Given the description of an element on the screen output the (x, y) to click on. 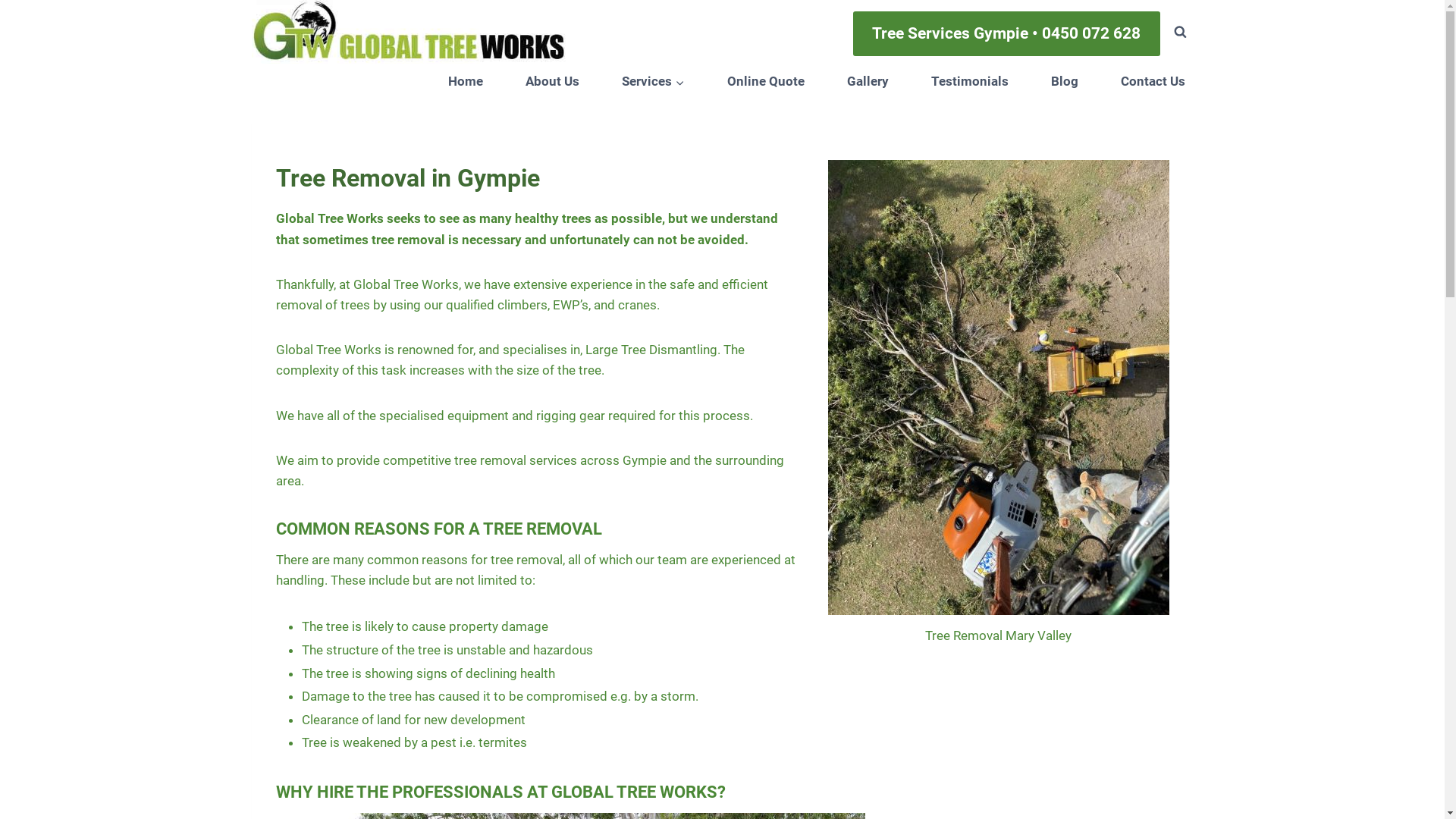
Blog Element type: text (1064, 81)
Contact Us Element type: text (1152, 81)
About Us Element type: text (551, 81)
Services Element type: text (653, 81)
Testimonials Element type: text (969, 81)
Gallery Element type: text (867, 81)
Home Element type: text (465, 81)
Online Quote Element type: text (765, 81)
